Given the description of an element on the screen output the (x, y) to click on. 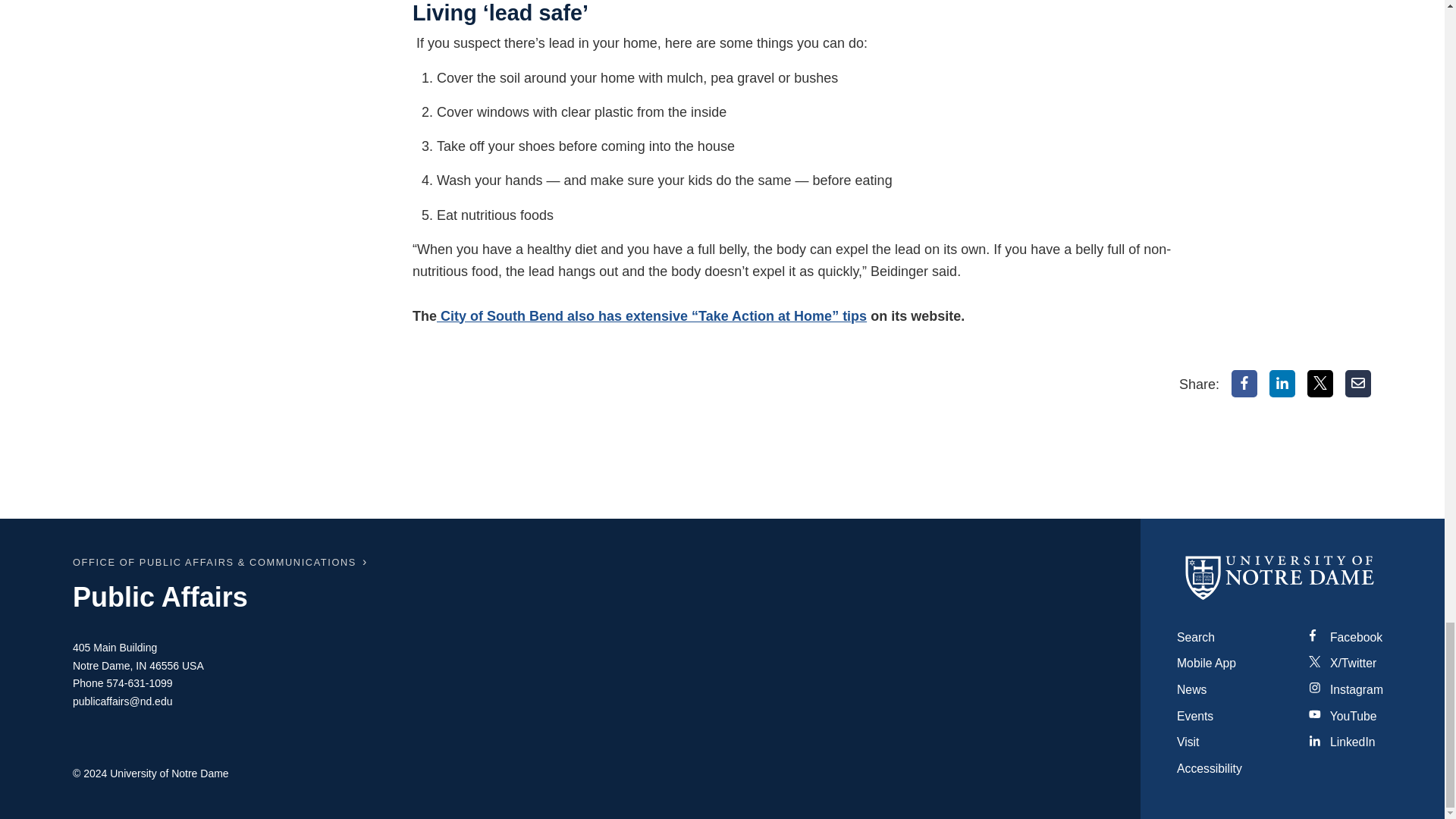
LinkedIn (1282, 383)
Email (1358, 383)
Facebook (1244, 383)
